Given the description of an element on the screen output the (x, y) to click on. 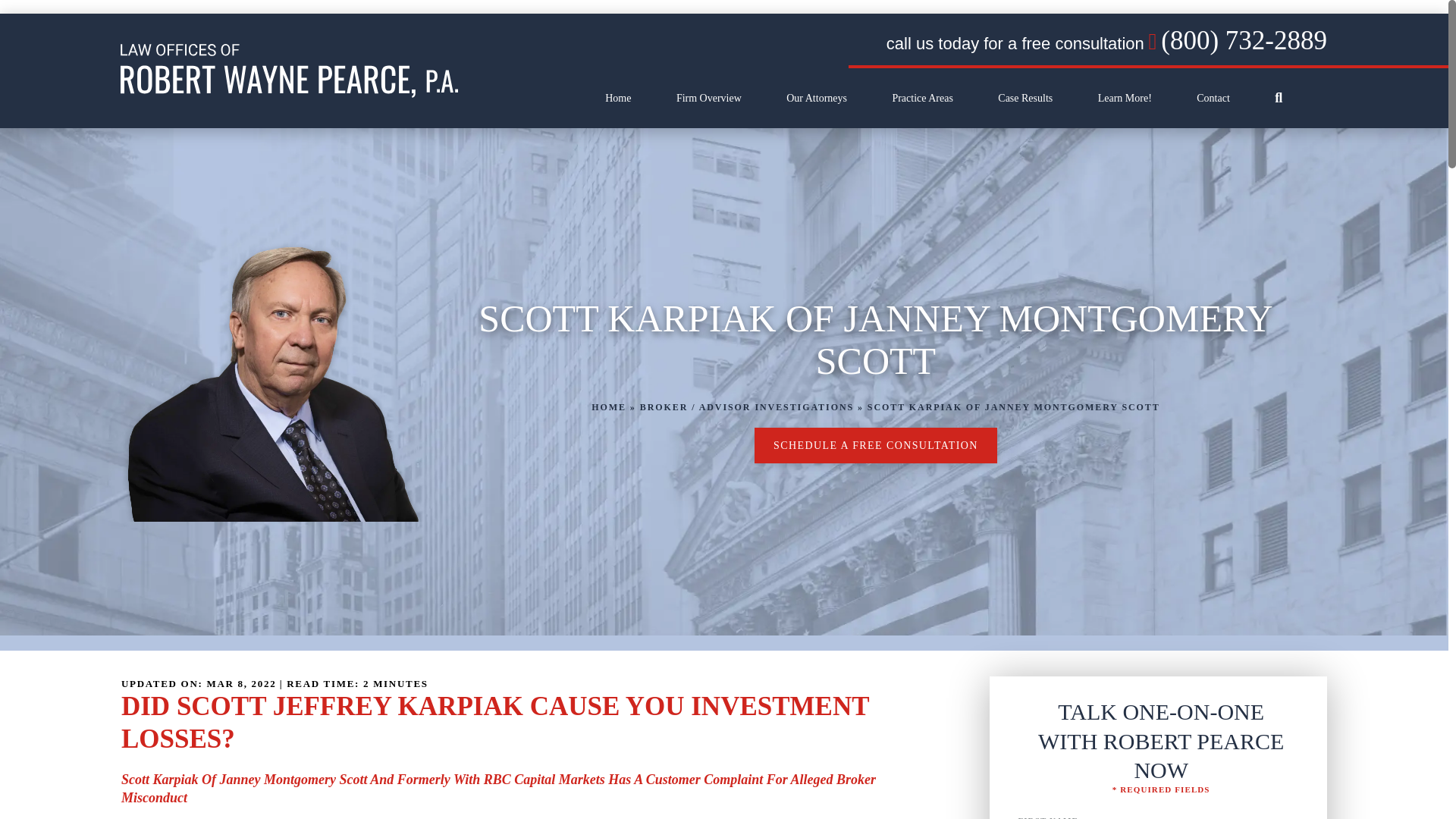
Firm Overview (709, 97)
Home (617, 97)
Learn More! (1124, 97)
Case Results (1024, 97)
Our Attorneys (816, 97)
Practice Areas (921, 97)
